Given the description of an element on the screen output the (x, y) to click on. 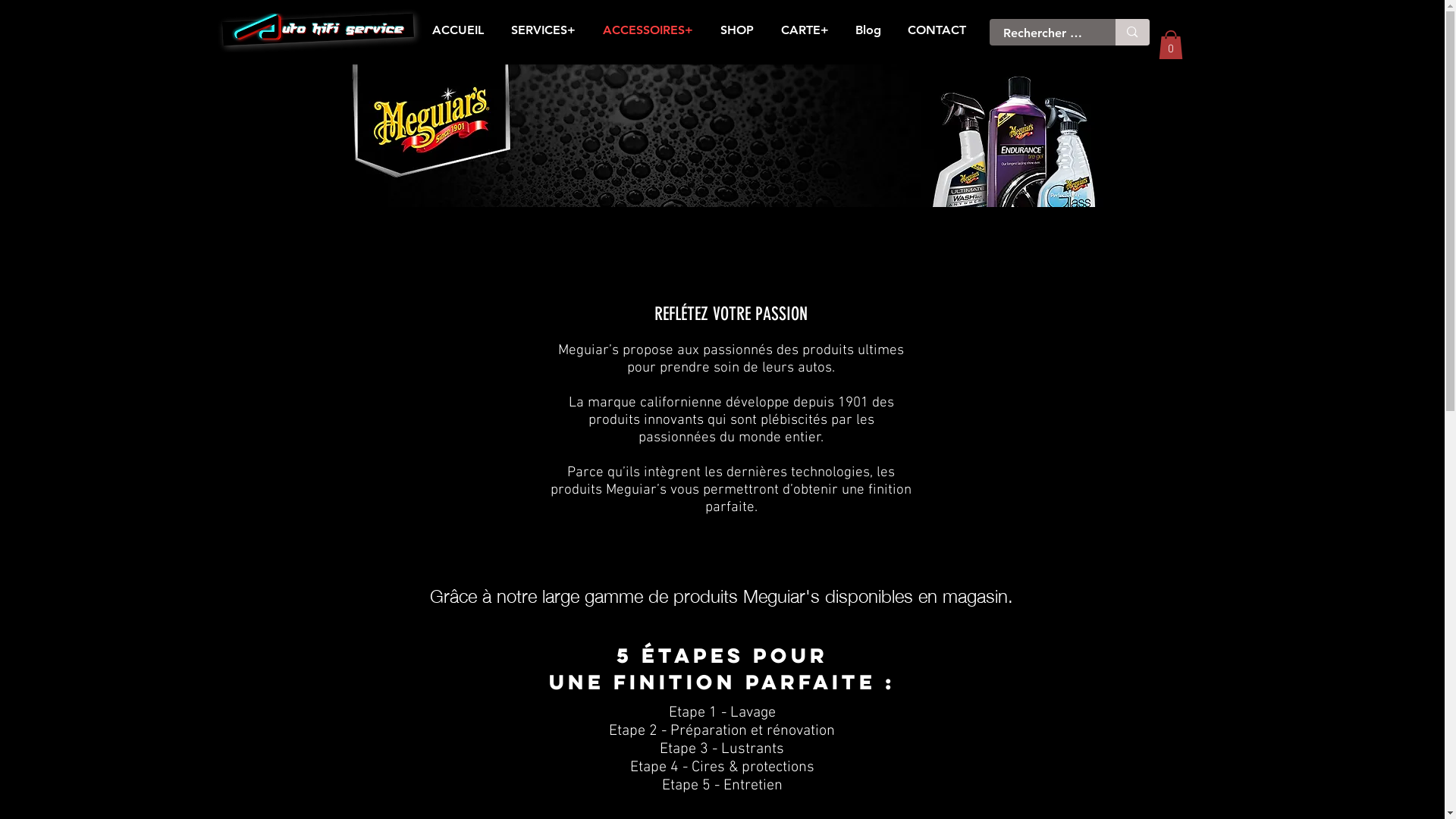
ACCESSOIRES+ Element type: text (647, 30)
SHOP Element type: text (736, 30)
0 Element type: text (1170, 44)
ACCUEIL Element type: text (457, 30)
Blog Element type: text (867, 30)
Produits d'entretien Meguiars Element type: hover (719, 135)
CONTACT Element type: text (936, 30)
CARTE+ Element type: text (804, 30)
